Given the description of an element on the screen output the (x, y) to click on. 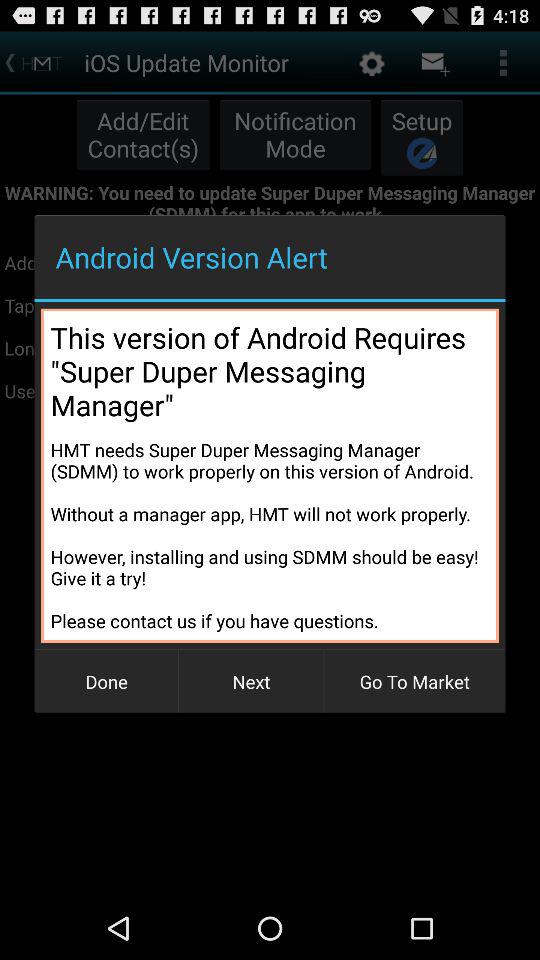
turn on item below the hmt needs super (106, 681)
